Given the description of an element on the screen output the (x, y) to click on. 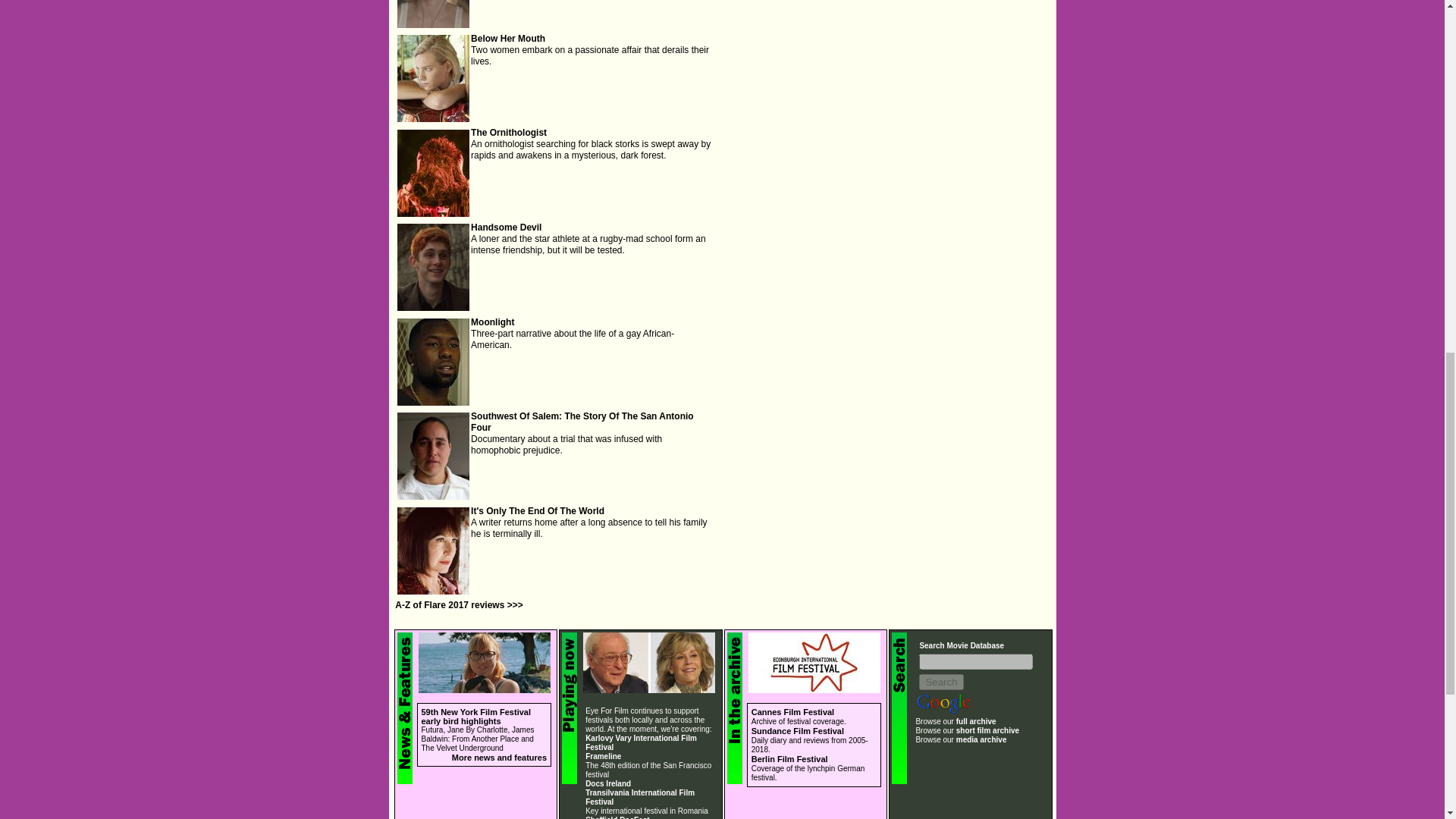
Search (940, 682)
